Given the description of an element on the screen output the (x, y) to click on. 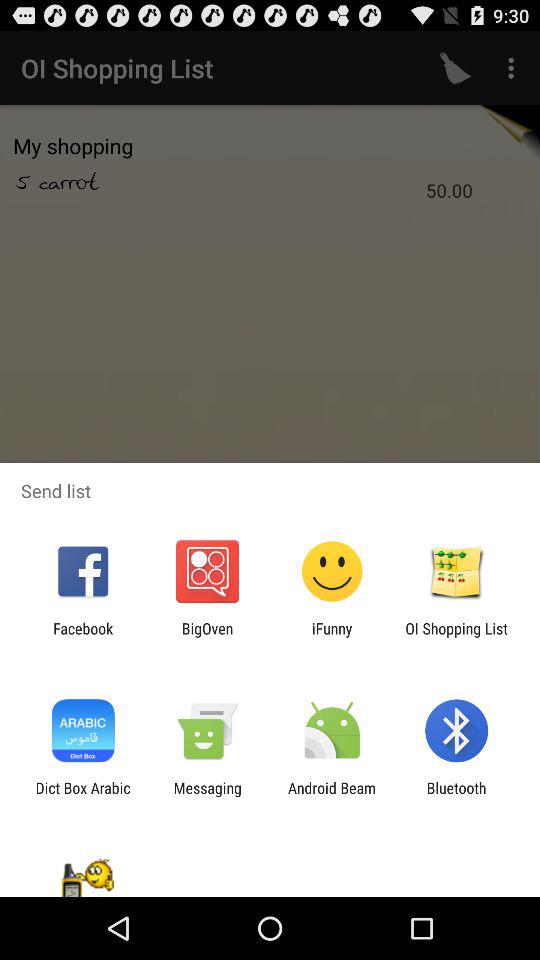
tap icon next to the android beam (207, 796)
